Given the description of an element on the screen output the (x, y) to click on. 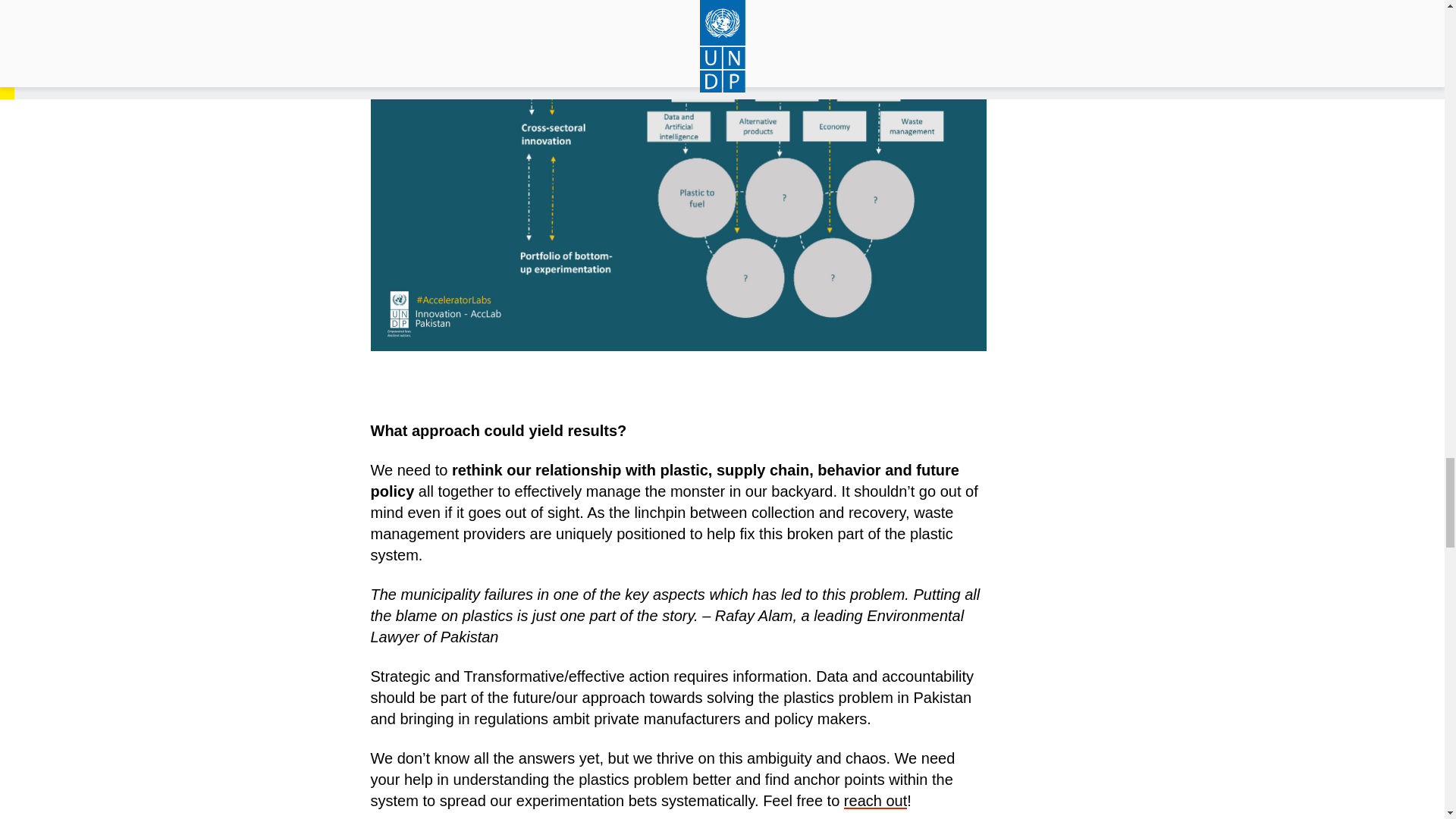
reach out (875, 800)
